Given the description of an element on the screen output the (x, y) to click on. 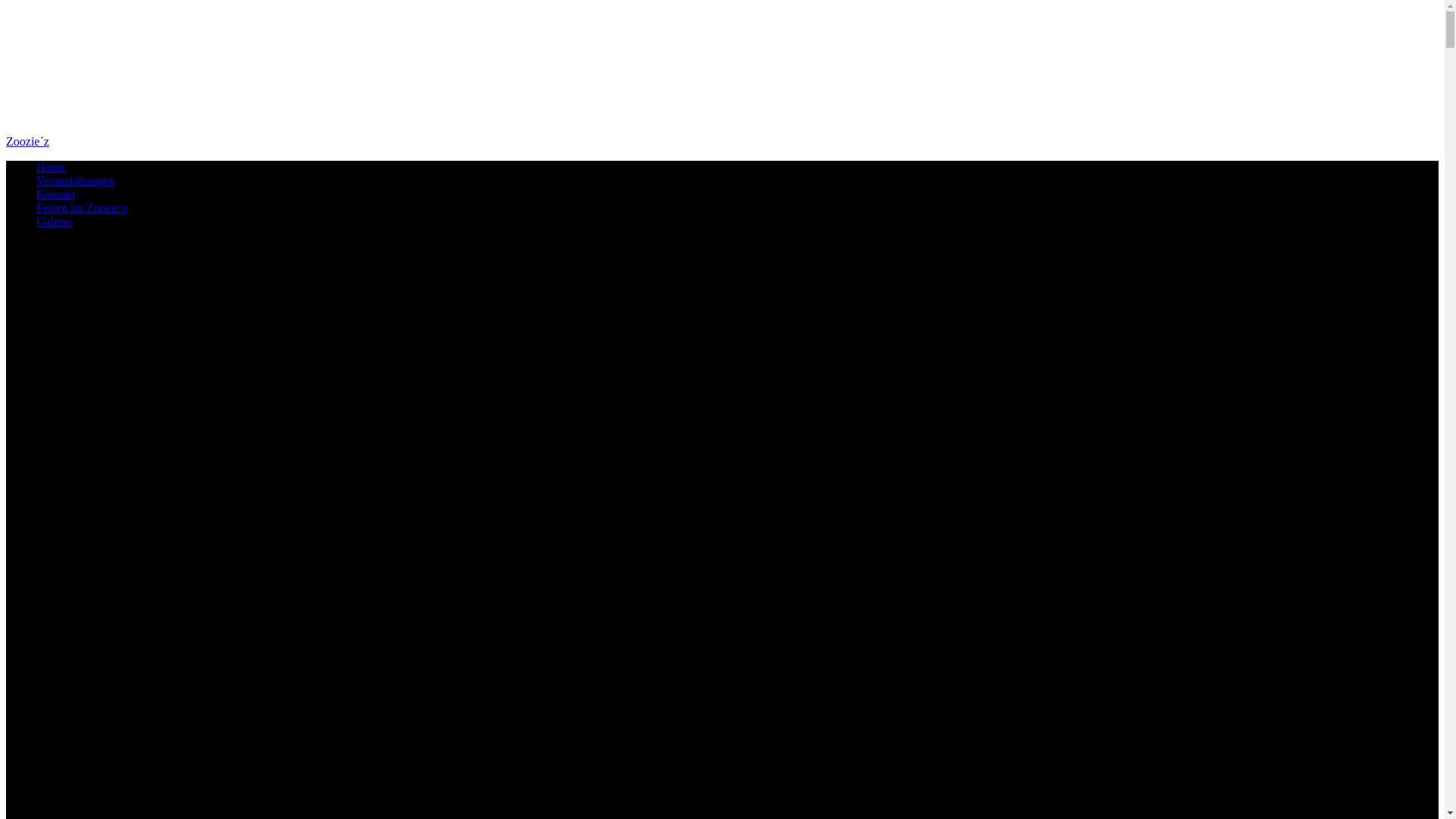
Kontakt Element type: text (55, 194)
Veranstaltungen Element type: text (75, 180)
Feiern im Zoozie'z Element type: text (81, 207)
Home Element type: text (50, 166)
Galerie Element type: text (54, 221)
